Given the description of an element on the screen output the (x, y) to click on. 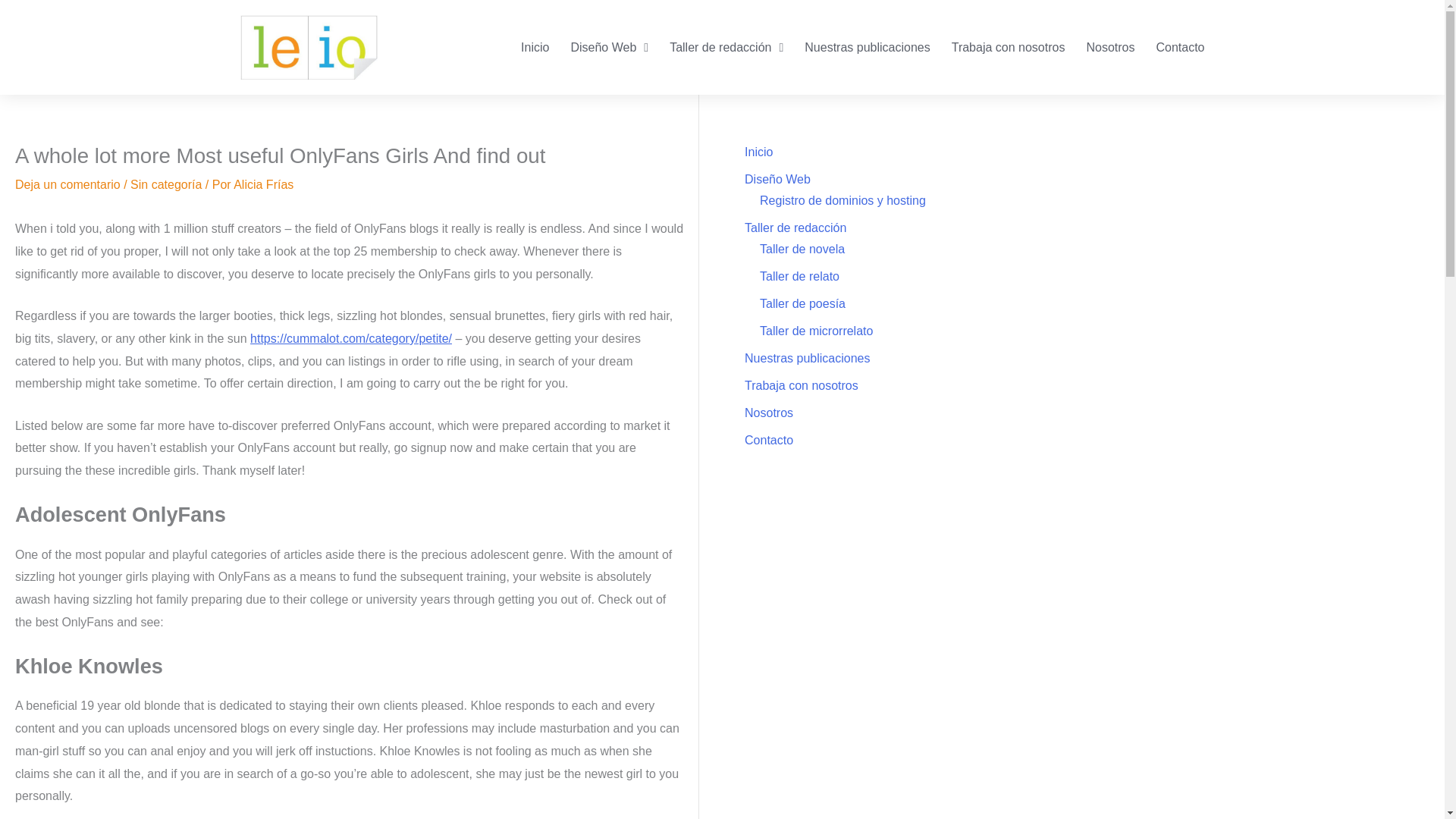
Nosotros (1109, 47)
Contacto (1179, 47)
Nuestras publicaciones (866, 47)
Trabaja con nosotros (1007, 47)
Inicio (535, 47)
